Given the description of an element on the screen output the (x, y) to click on. 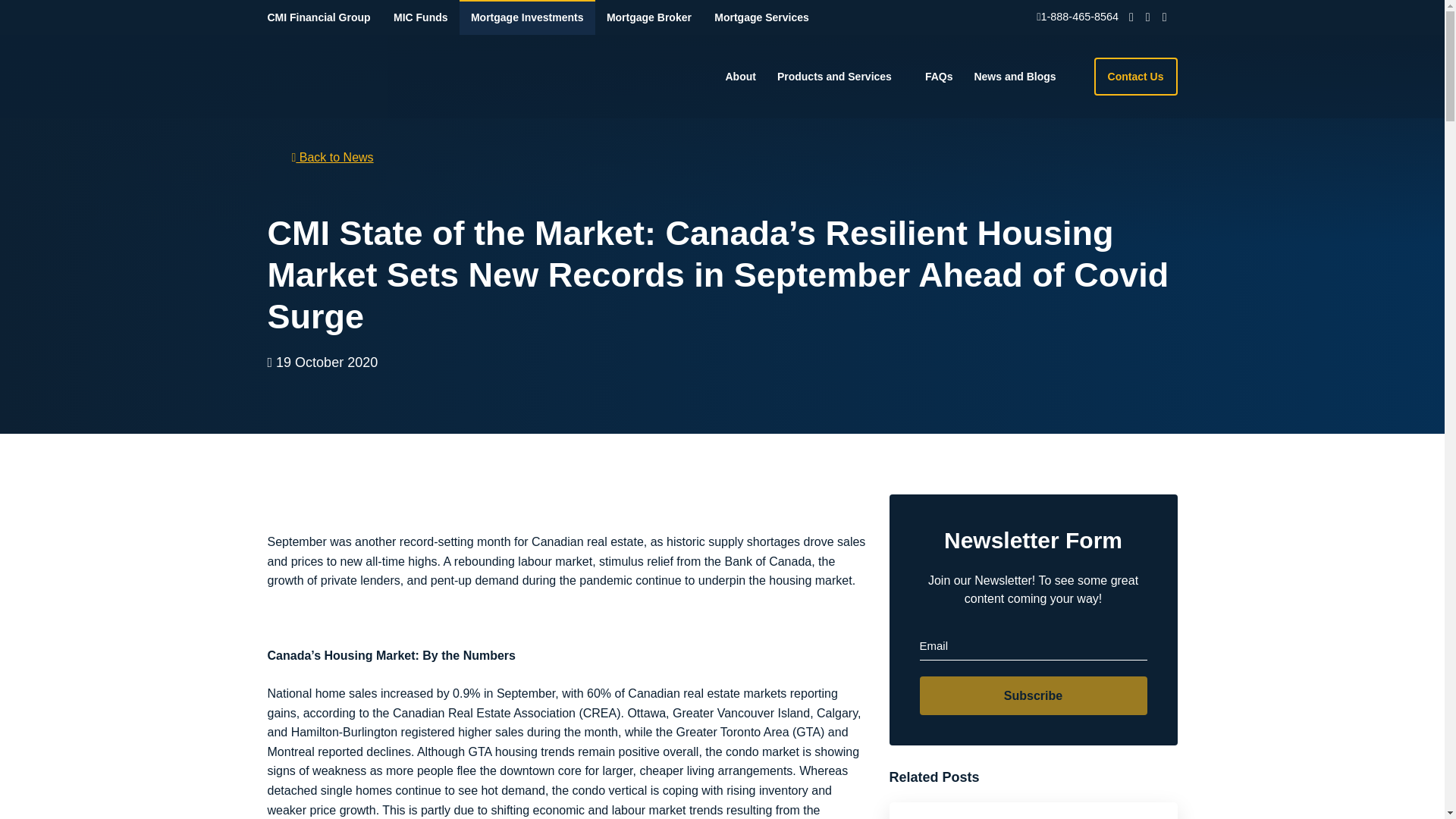
Mortgage Services (762, 17)
Products and Services (840, 76)
Subscribe (1033, 695)
About (739, 76)
1-888-465-8564 (1077, 17)
FAQs (938, 76)
CMI Financial Group (323, 17)
Mortgage Investments (527, 17)
Contact Us (1135, 76)
